Given the description of an element on the screen output the (x, y) to click on. 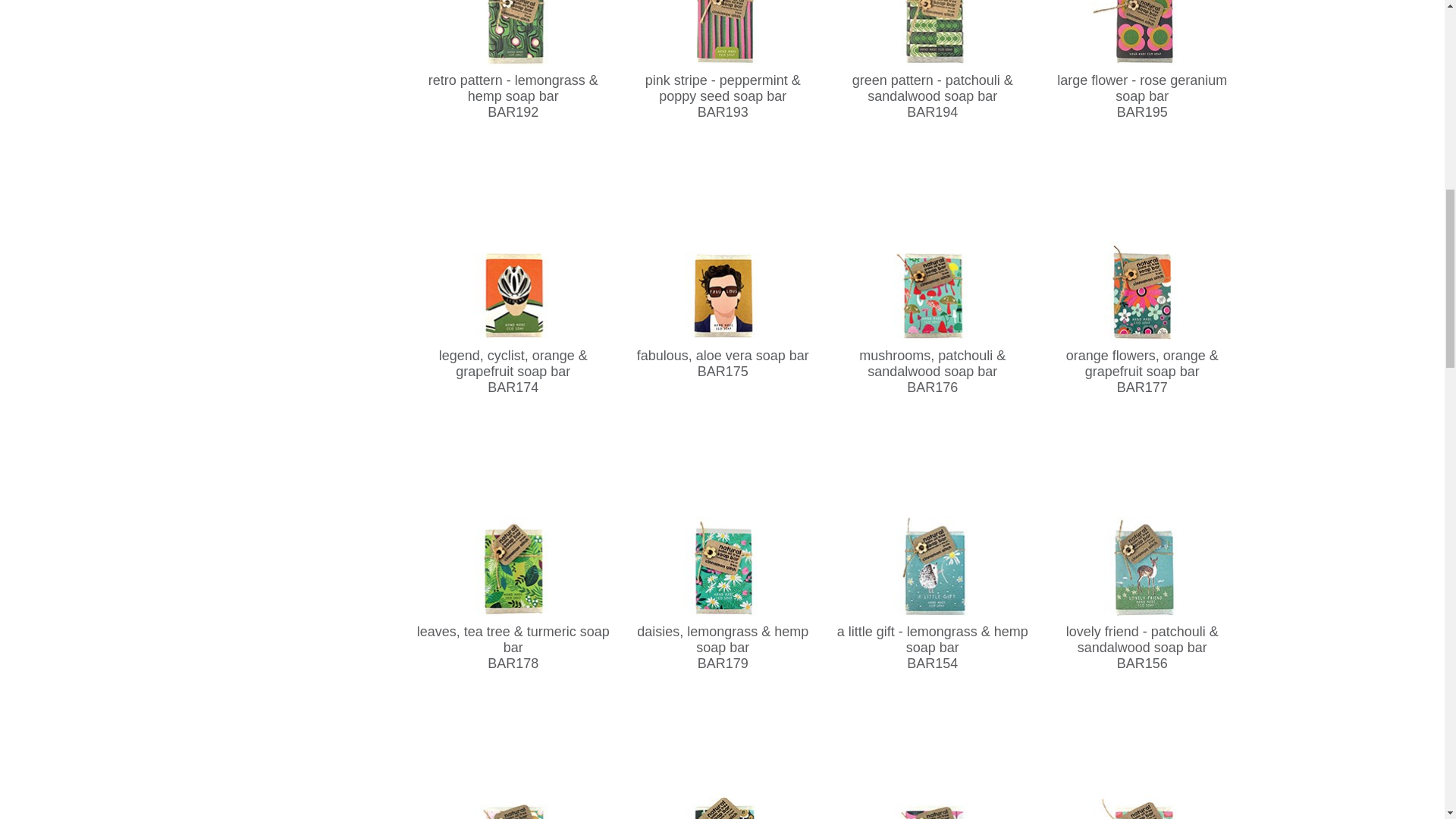
happy birthday - lavender soap bar (722, 757)
large flower - rose geranium soap bar (1141, 67)
